Given the description of an element on the screen output the (x, y) to click on. 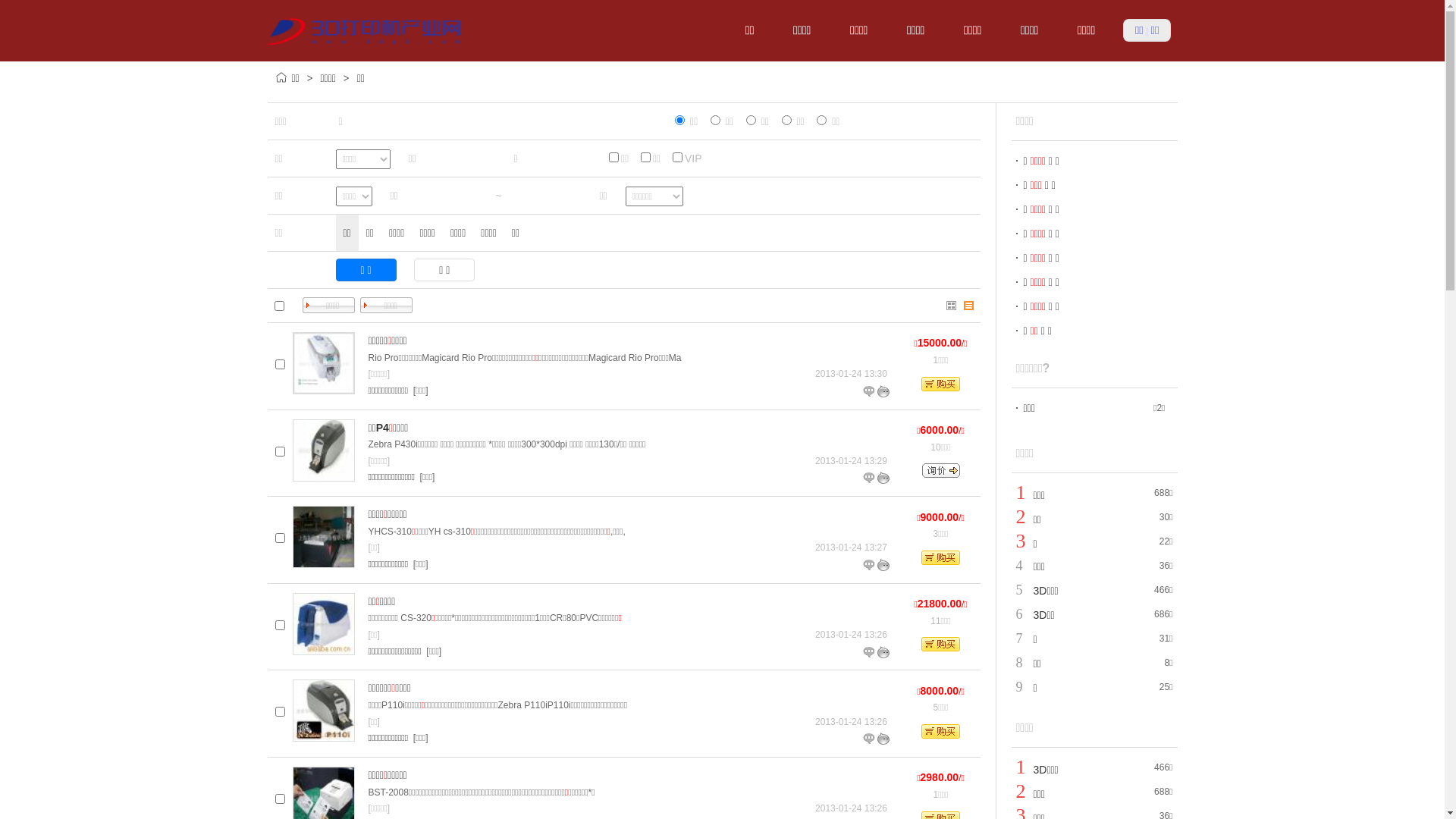
1010 Element type: text (280, 711)
1012 Element type: text (280, 537)
1009 Element type: text (280, 798)
1016 Element type: text (280, 451)
1018 Element type: text (280, 364)
on Element type: text (279, 305)
1011 Element type: text (280, 625)
